Given the description of an element on the screen output the (x, y) to click on. 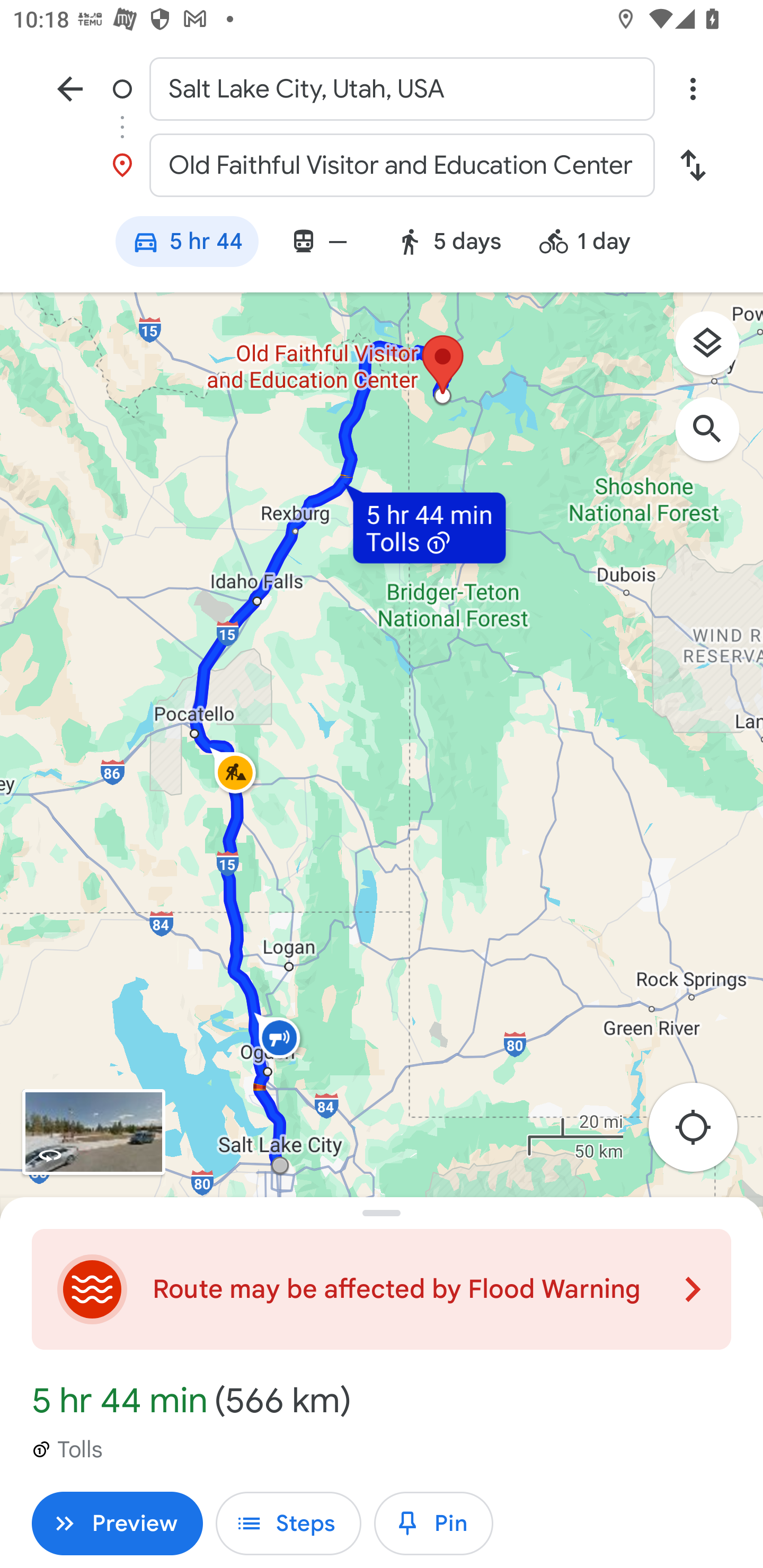
Navigate up (70, 88)
Overflow menu (692, 88)
Swap start and destination (692, 165)
Transit mode: not available — (318, 244)
Walking mode: 5 days 5 days (448, 244)
Bicycling mode: 1 day 1 day (593, 244)
Layers (716, 349)
Search along route (716, 438)
Re-center map to your location (702, 1131)
Alert Route may be affected by Flood Warning (381, 1289)
Steps Steps Steps (288, 1522)
Pin trip Pin Pin trip (433, 1522)
